Given the description of an element on the screen output the (x, y) to click on. 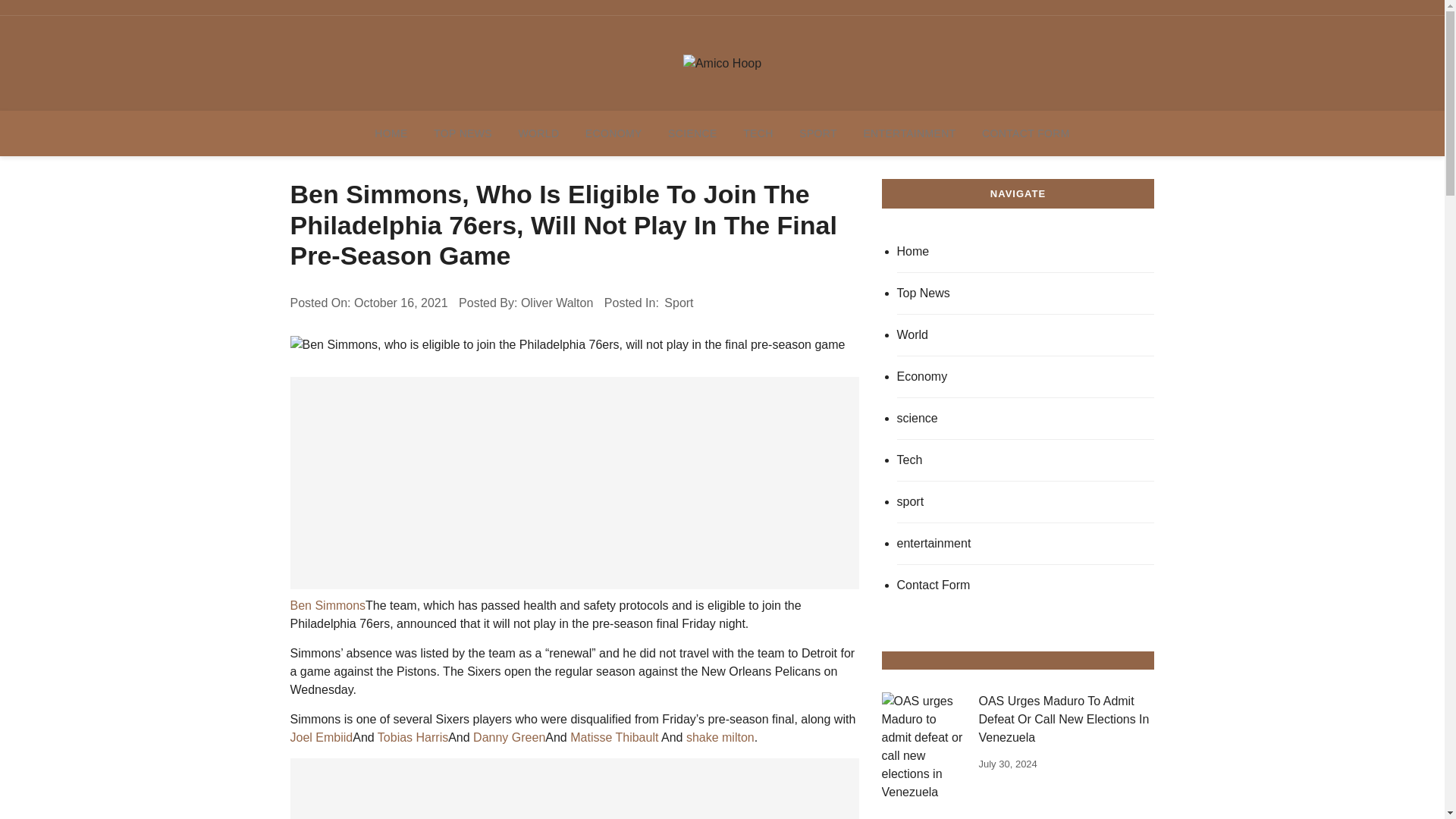
ENTERTAINMENT (908, 133)
SPORT (817, 133)
Ben Simmons (327, 604)
Top News (1025, 293)
October 16, 2021 (400, 303)
Home (1025, 251)
Danny Green (508, 737)
Matisse Thibault (614, 737)
shake milton (719, 737)
WORLD (538, 133)
Sport (678, 303)
HOME (390, 133)
ECONOMY (613, 133)
TECH (758, 133)
